Given the description of an element on the screen output the (x, y) to click on. 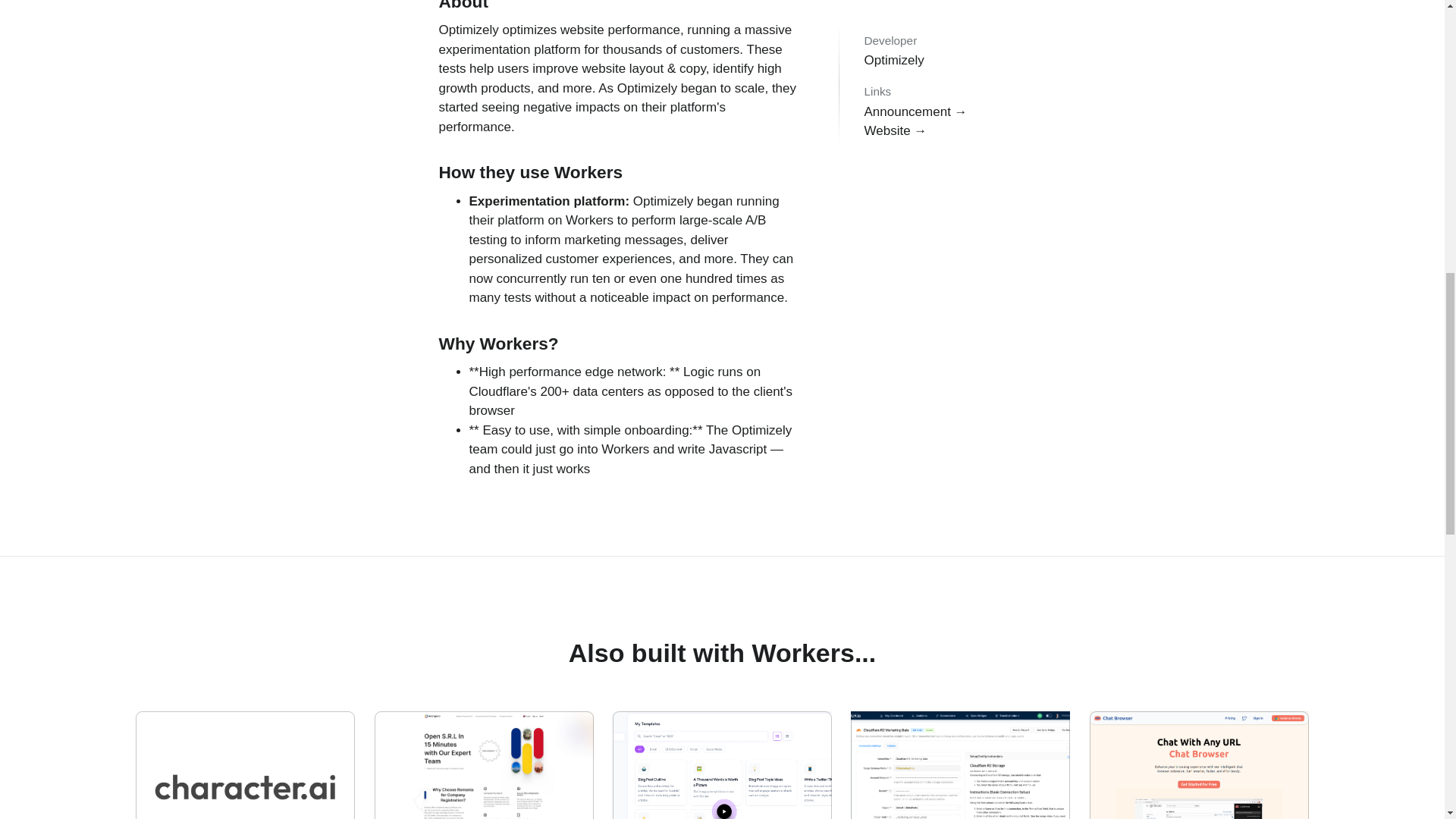
Website (895, 89)
Announcement (484, 765)
